Given the description of an element on the screen output the (x, y) to click on. 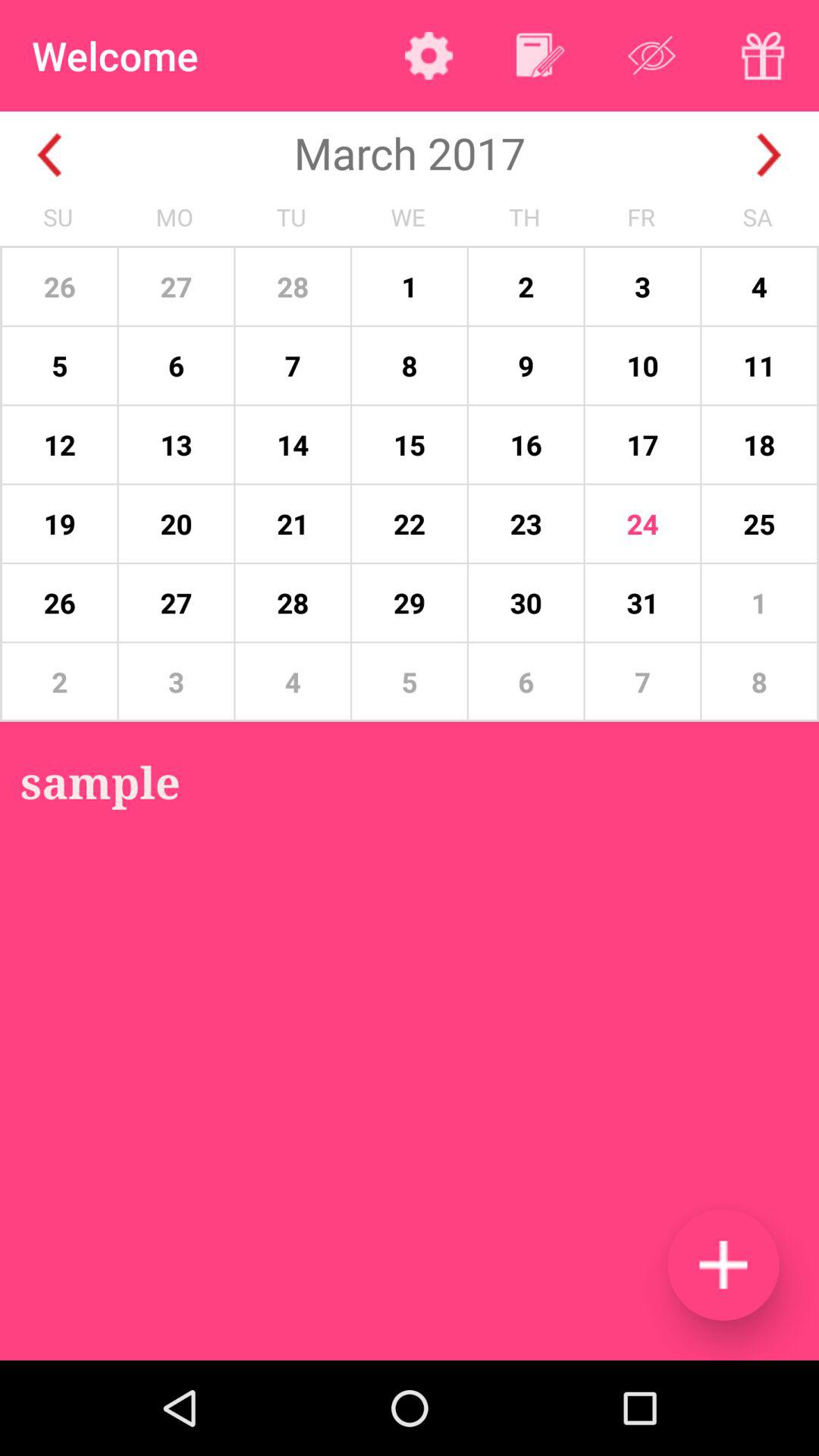
this will take you to the next month (769, 155)
